Given the description of an element on the screen output the (x, y) to click on. 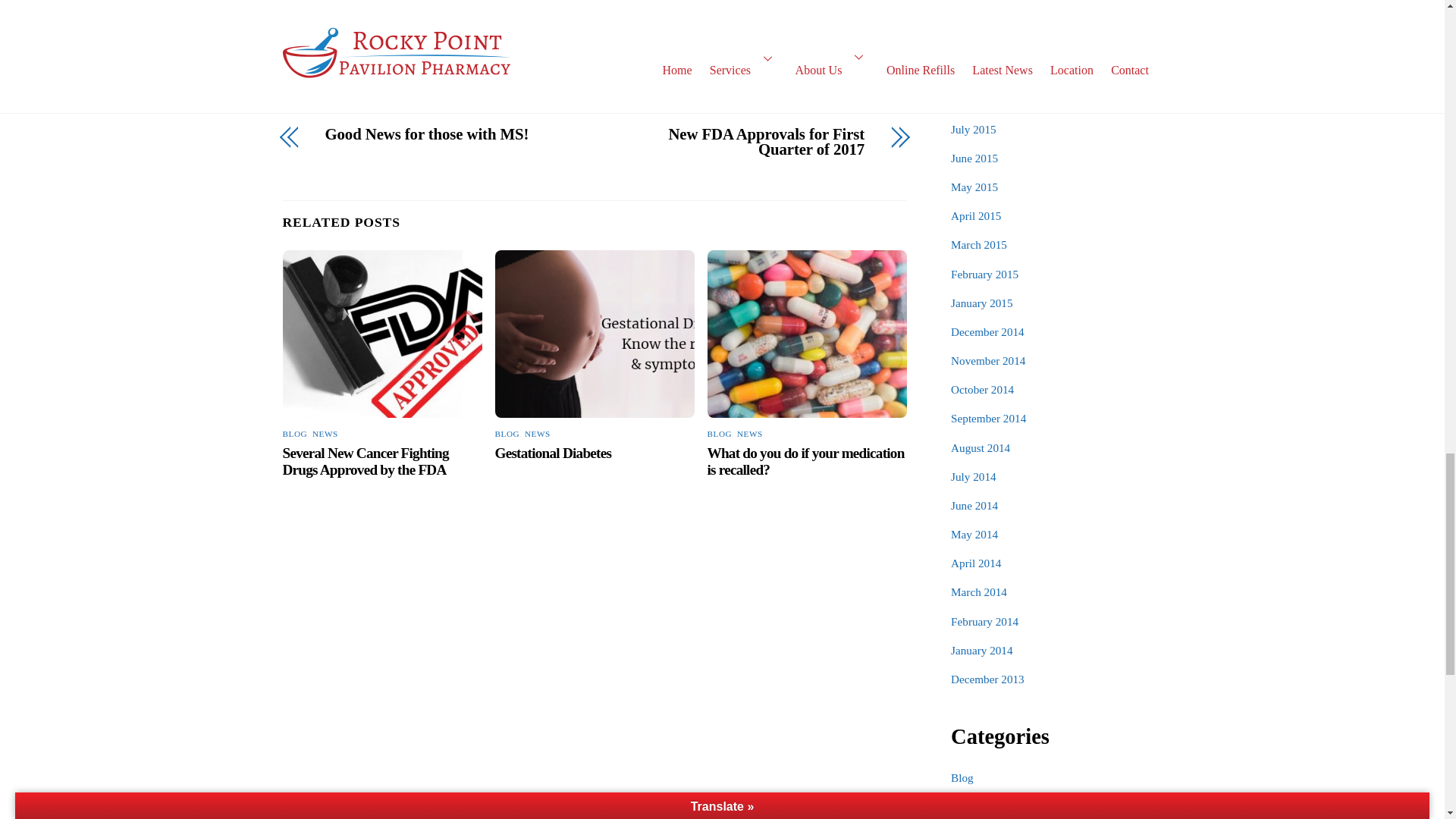
Good News for those with MS! (449, 134)
New FDA Approvals for First Quarter of 2017 (738, 142)
Gestational Diabetes (553, 453)
BLOG (507, 433)
BLOG (719, 433)
onlineRefillsMainImage (807, 333)
Several New Cancer Fighting Drugs Approved by the FDA (365, 461)
fda-approved1 (381, 333)
BLOG (294, 433)
NEWS (537, 433)
NEWS (325, 433)
